Given the description of an element on the screen output the (x, y) to click on. 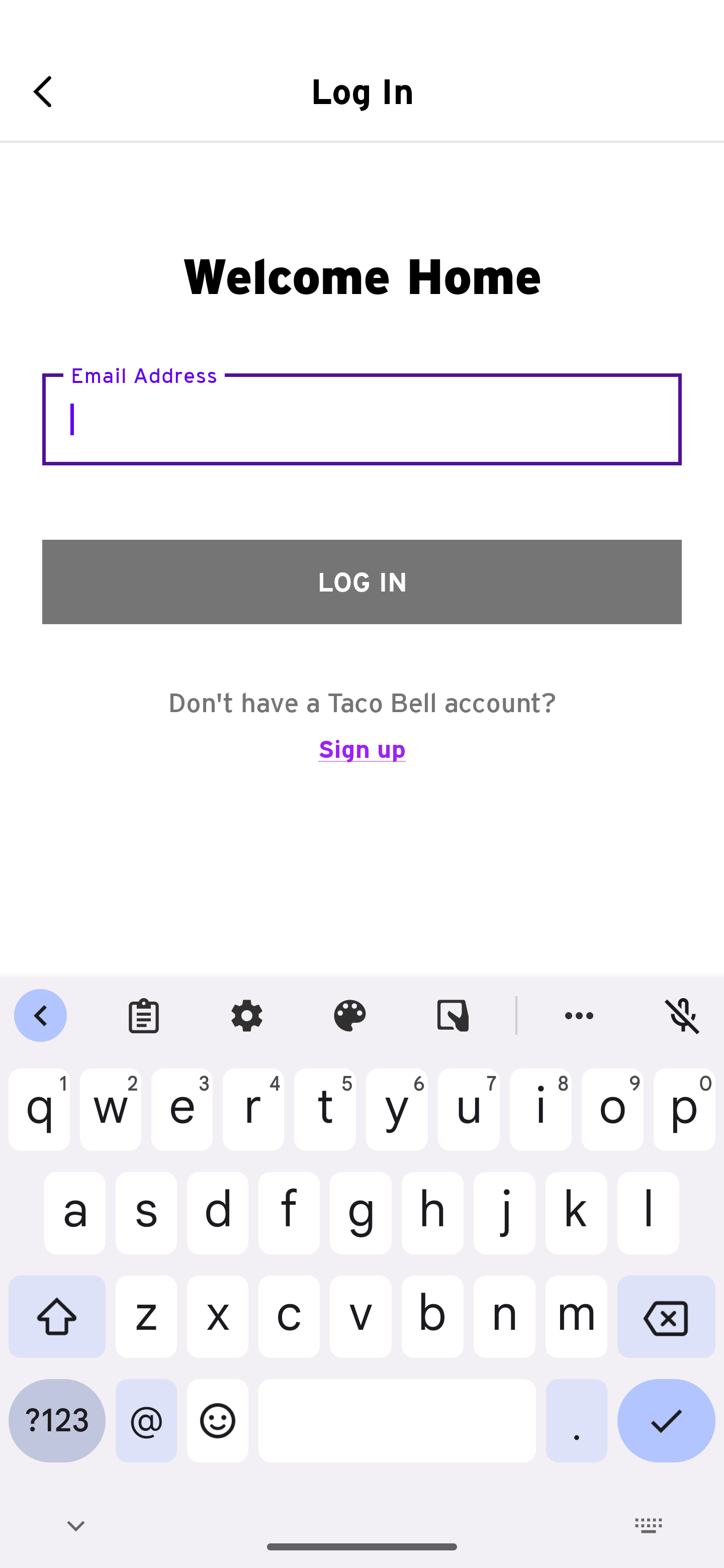
Navigate up (49, 91)
Email Address (361, 419)
LOG IN (361, 581)
Sign up (361, 757)
